Given the description of an element on the screen output the (x, y) to click on. 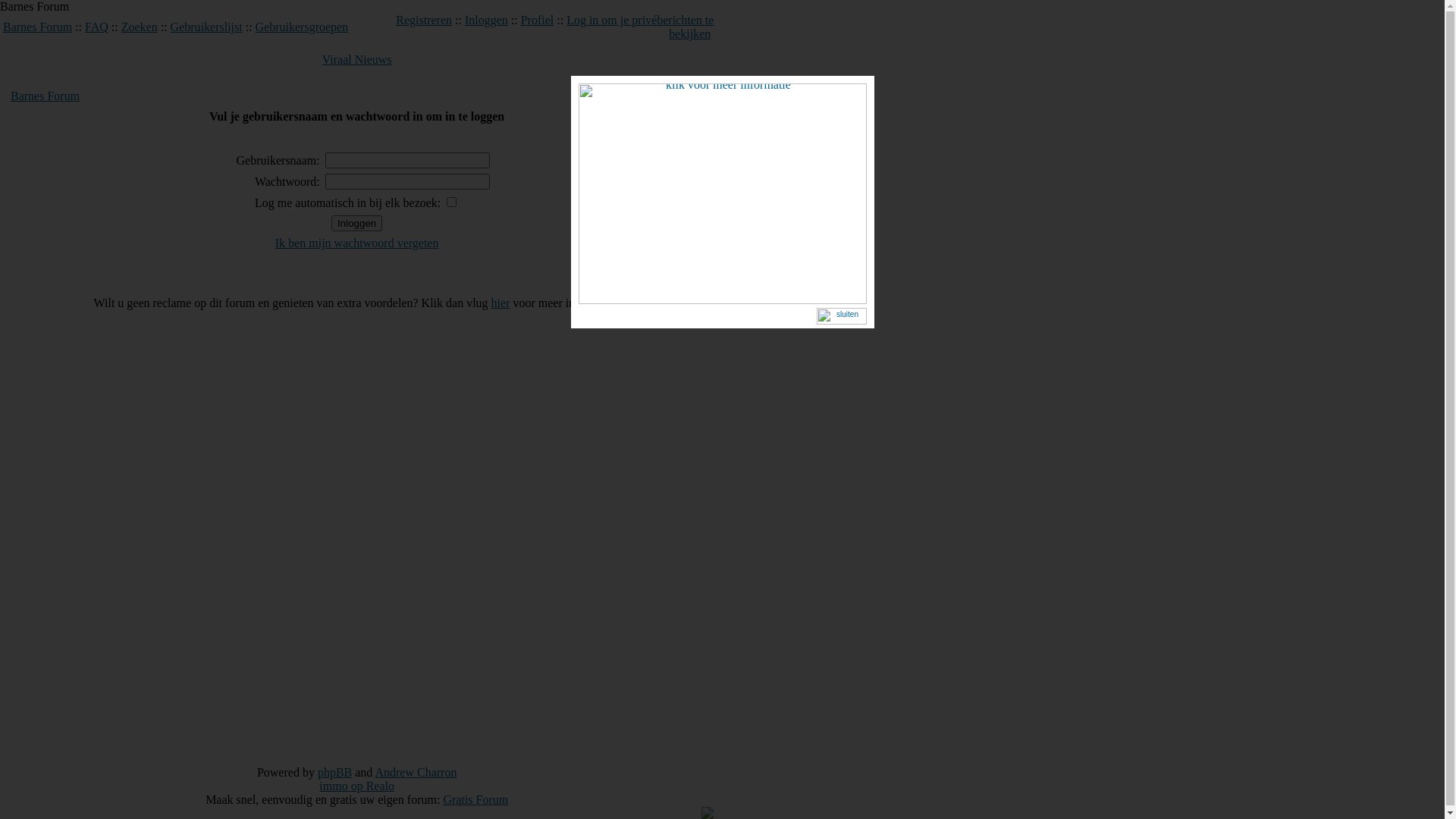
Ik ben mijn wachtwoord vergeten Element type: text (357, 242)
Inloggen Element type: text (486, 19)
Andrew Charron Element type: text (415, 771)
Gebruikersgroepen Element type: text (301, 26)
Inloggen Element type: text (356, 223)
FAQ Element type: text (96, 26)
Registreren Element type: text (423, 19)
Profiel Element type: text (537, 19)
Viraal Nieuws Element type: text (357, 59)
immo op Realo Element type: text (356, 785)
Gratis Forum Element type: text (475, 799)
Barnes Forum Element type: text (37, 26)
Zoeken Element type: text (139, 26)
Barnes Forum Element type: text (44, 95)
Gebruikerslijst Element type: text (206, 26)
hier Element type: text (500, 302)
phpBB Element type: text (334, 771)
sluiten Element type: hover (840, 318)
klik voor meer informatie Element type: hover (721, 299)
